Given the description of an element on the screen output the (x, y) to click on. 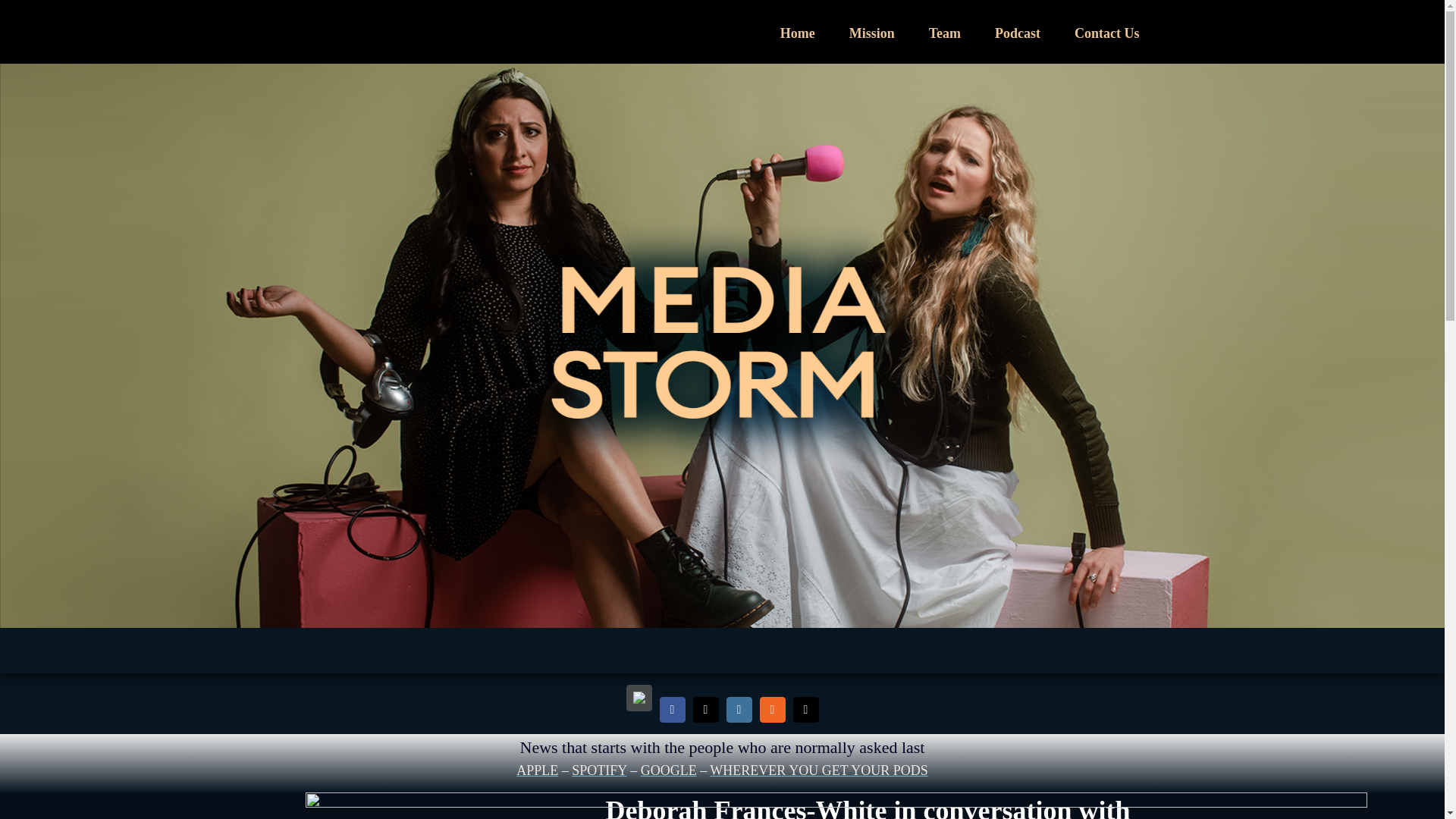
WHEREVER YOU GET YOUR PODS (818, 770)
Email (805, 709)
SPOTIFY (599, 770)
ITunes (639, 697)
GOOGLE (668, 770)
Rss (773, 709)
Contact Us (1107, 31)
X (706, 709)
Instagram (739, 709)
Facebook (672, 709)
APPLE (536, 770)
